Given the description of an element on the screen output the (x, y) to click on. 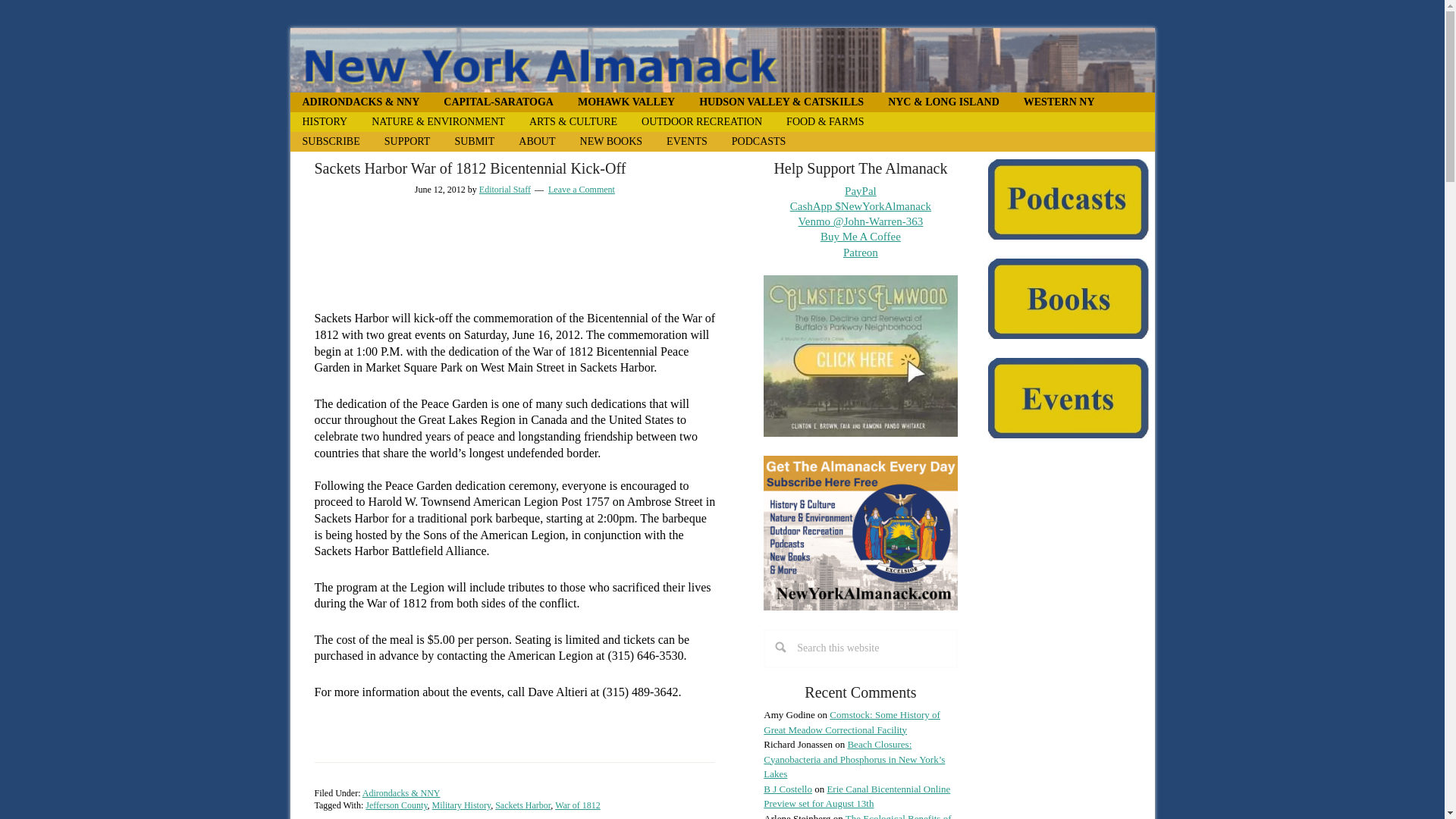
Leave a Comment (581, 189)
CAPITAL-SARATOGA (498, 102)
HISTORY (324, 121)
SUBMIT (474, 141)
WESTERN NY (1058, 102)
PODCASTS (758, 141)
EVENTS (686, 141)
War of 1812 (576, 805)
Jefferson County (395, 805)
MOHAWK VALLEY (626, 102)
